Given the description of an element on the screen output the (x, y) to click on. 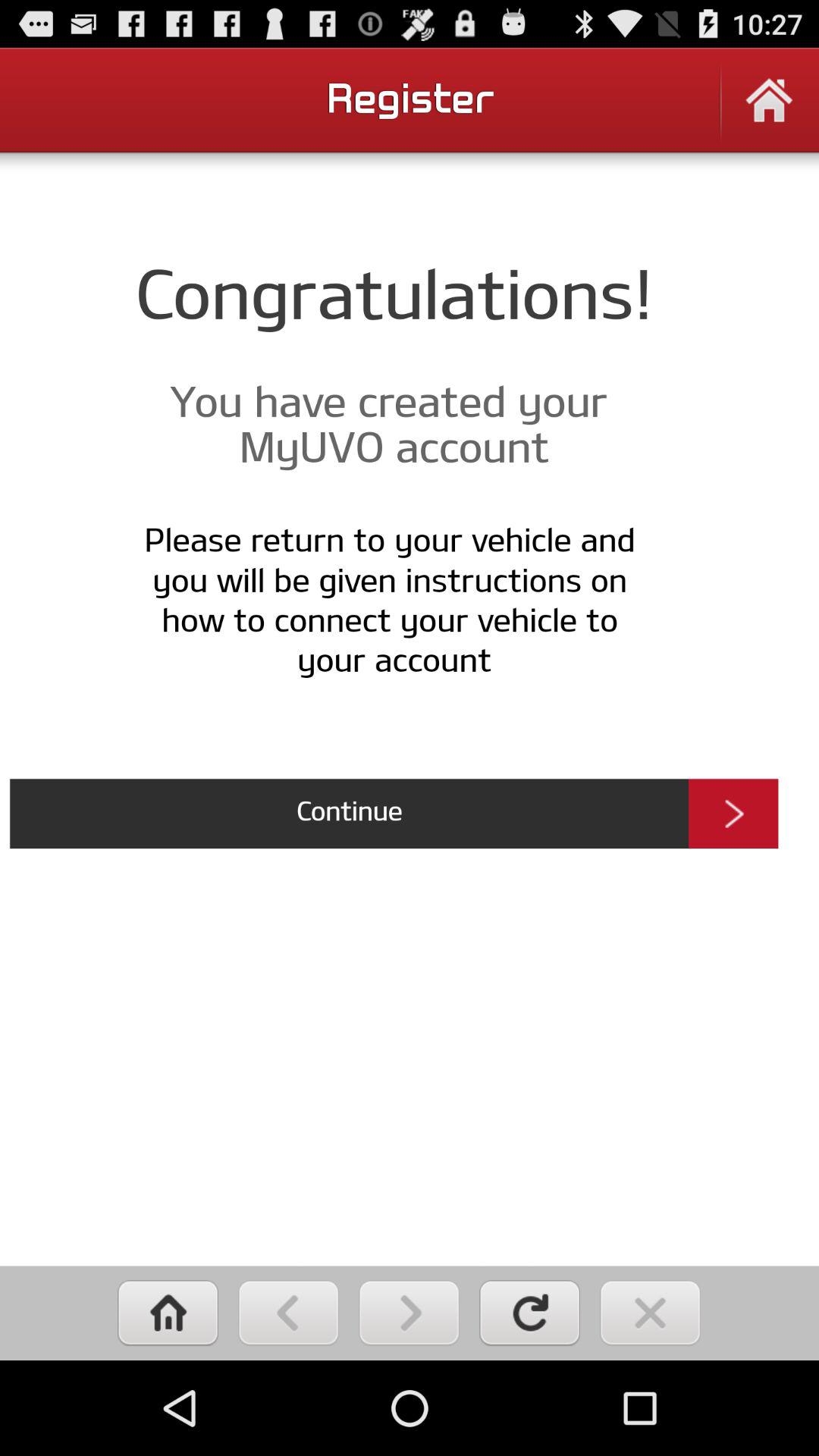
stop (650, 1313)
